Given the description of an element on the screen output the (x, y) to click on. 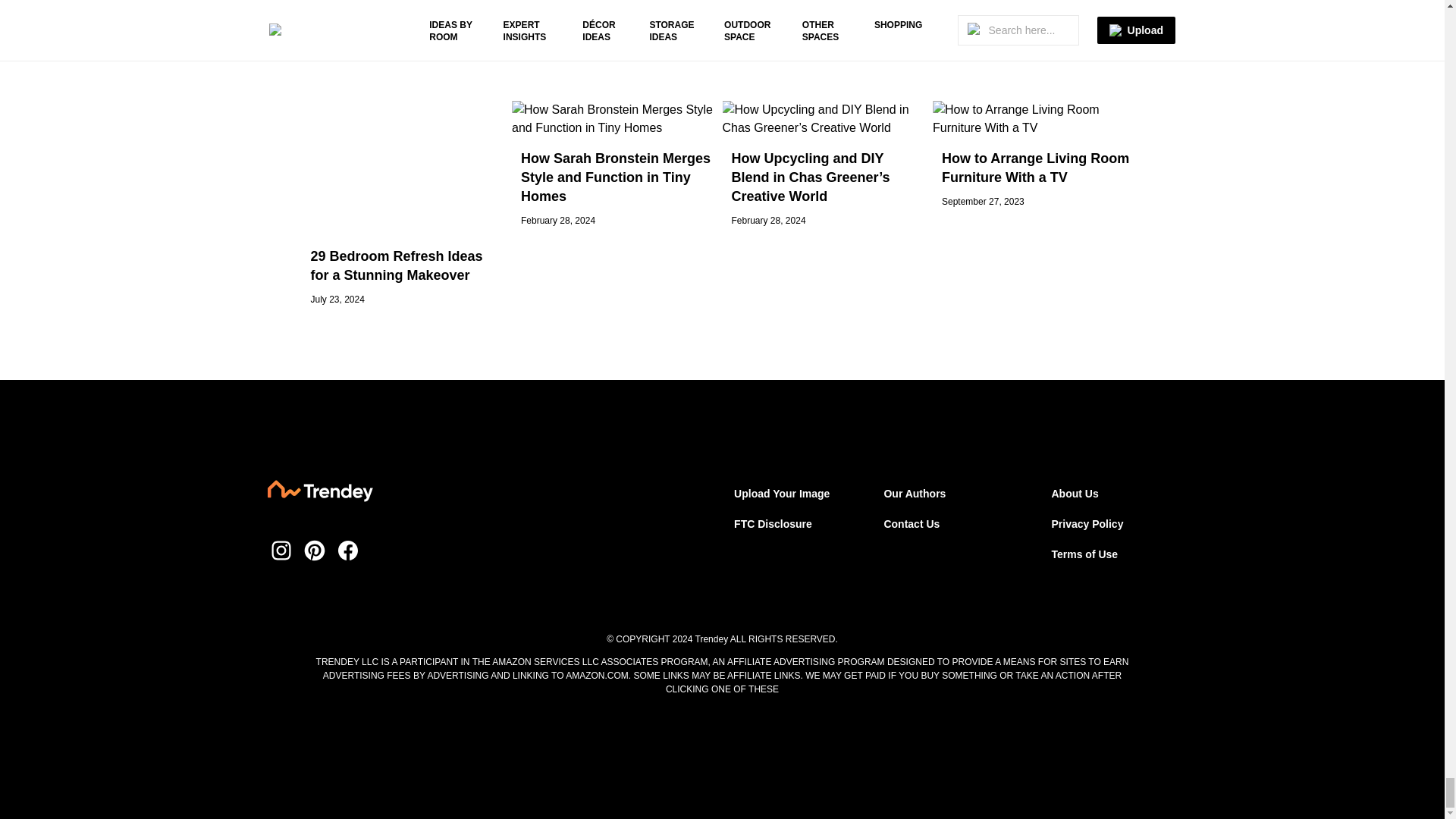
Trendey (319, 492)
